Given the description of an element on the screen output the (x, y) to click on. 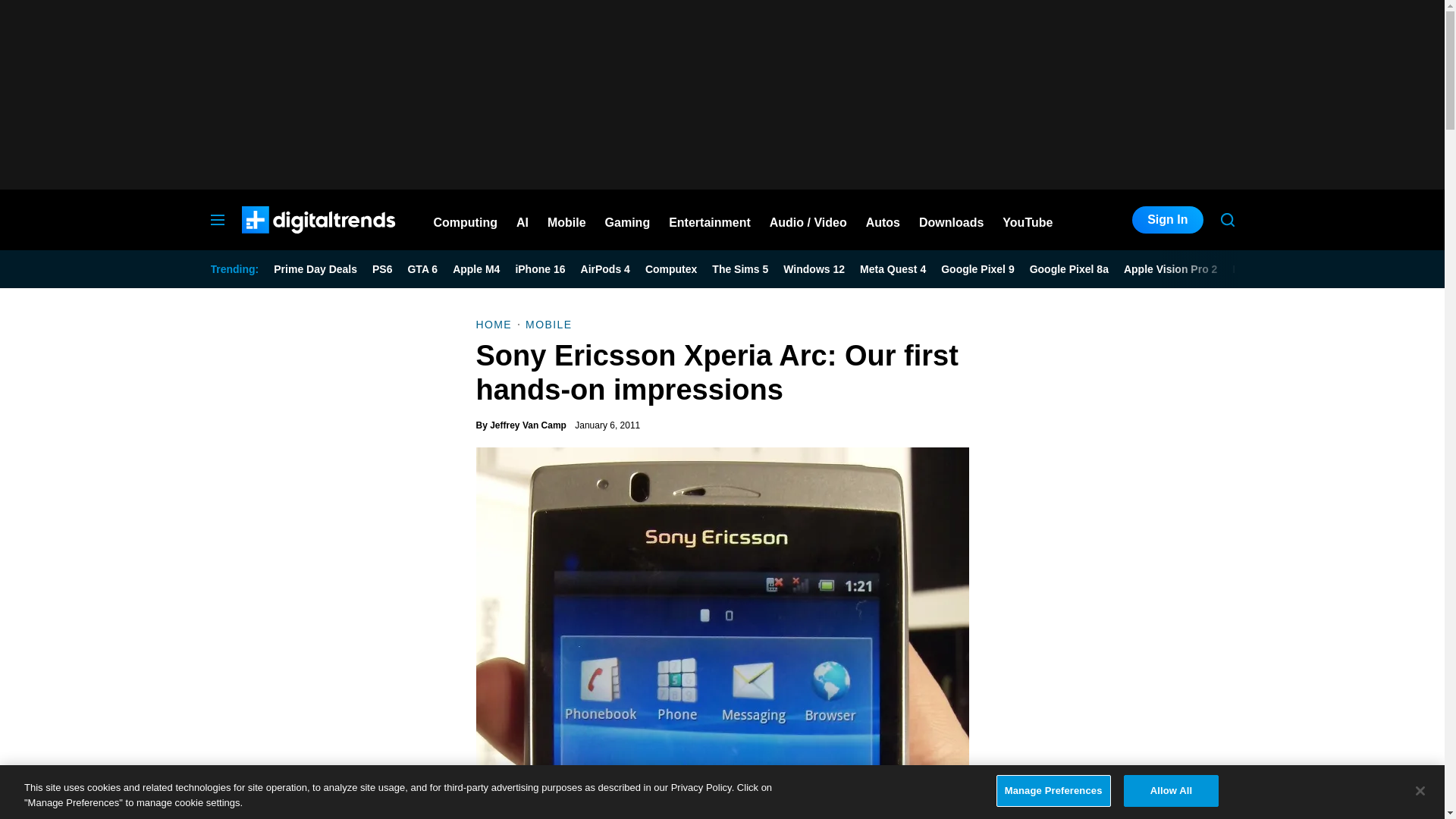
Sign In (1167, 219)
Computing (465, 219)
Entertainment (709, 219)
Downloads (951, 219)
